Given the description of an element on the screen output the (x, y) to click on. 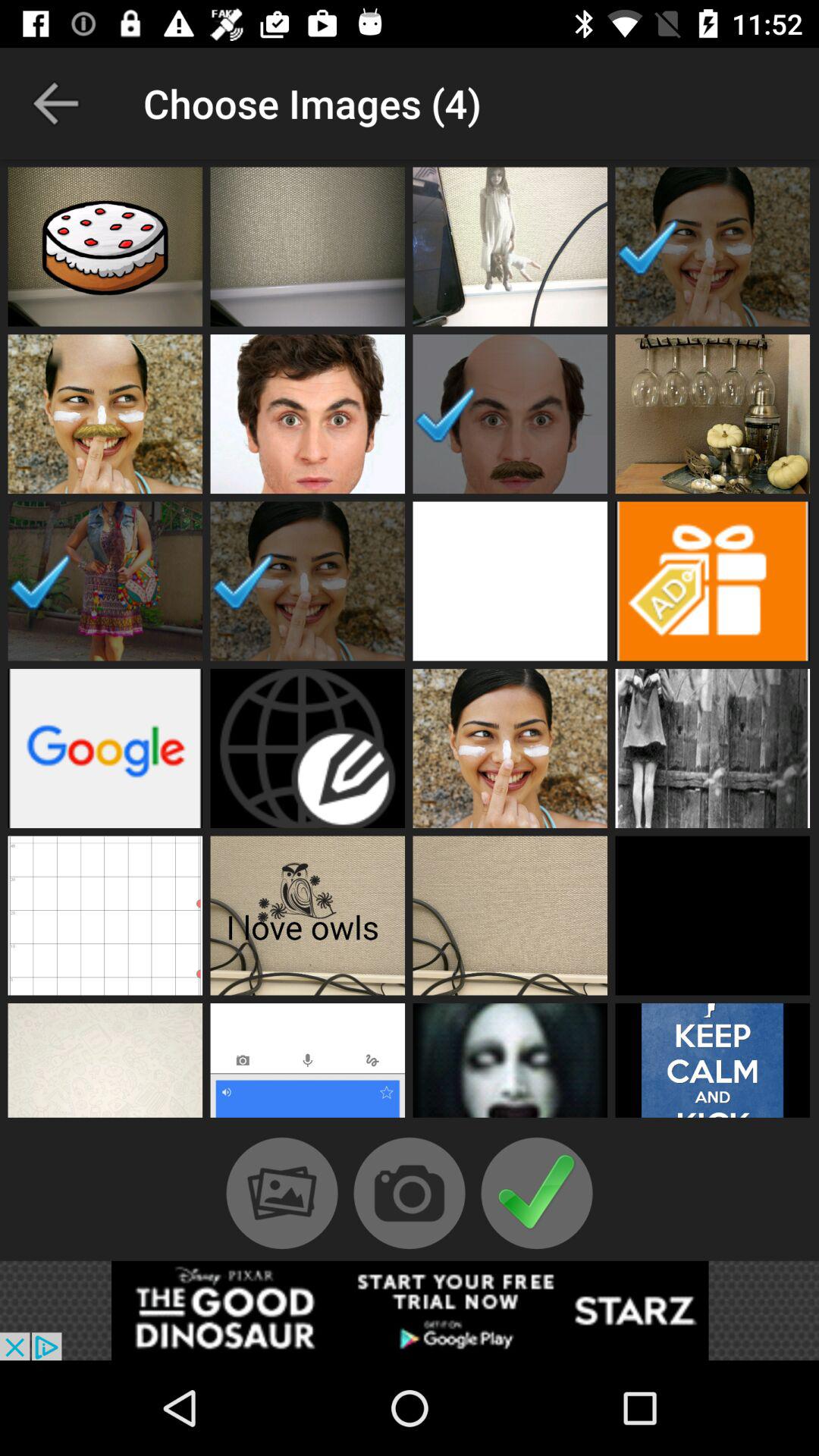
select image shown (104, 580)
